Given the description of an element on the screen output the (x, y) to click on. 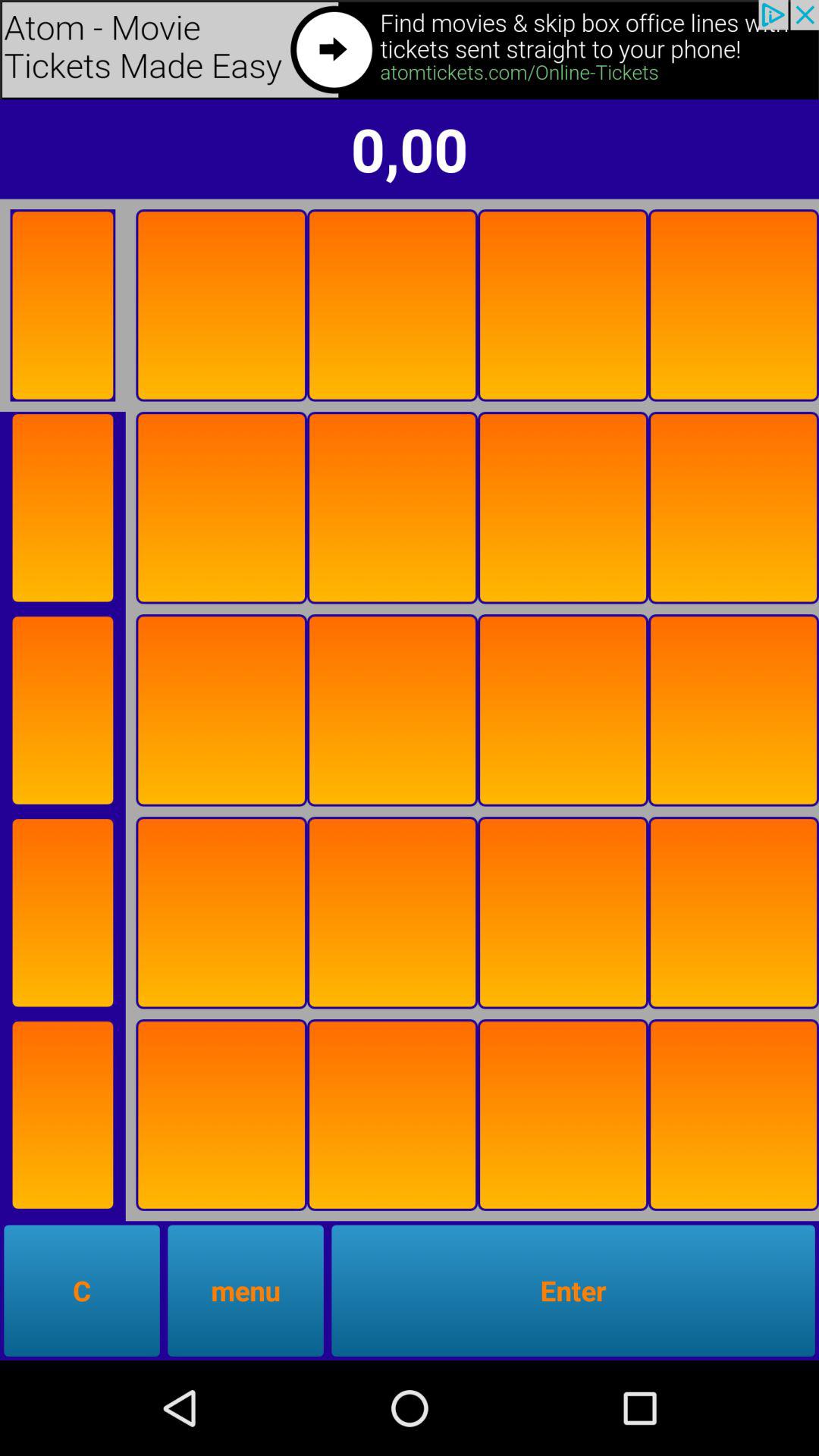
add item (221, 710)
